Given the description of an element on the screen output the (x, y) to click on. 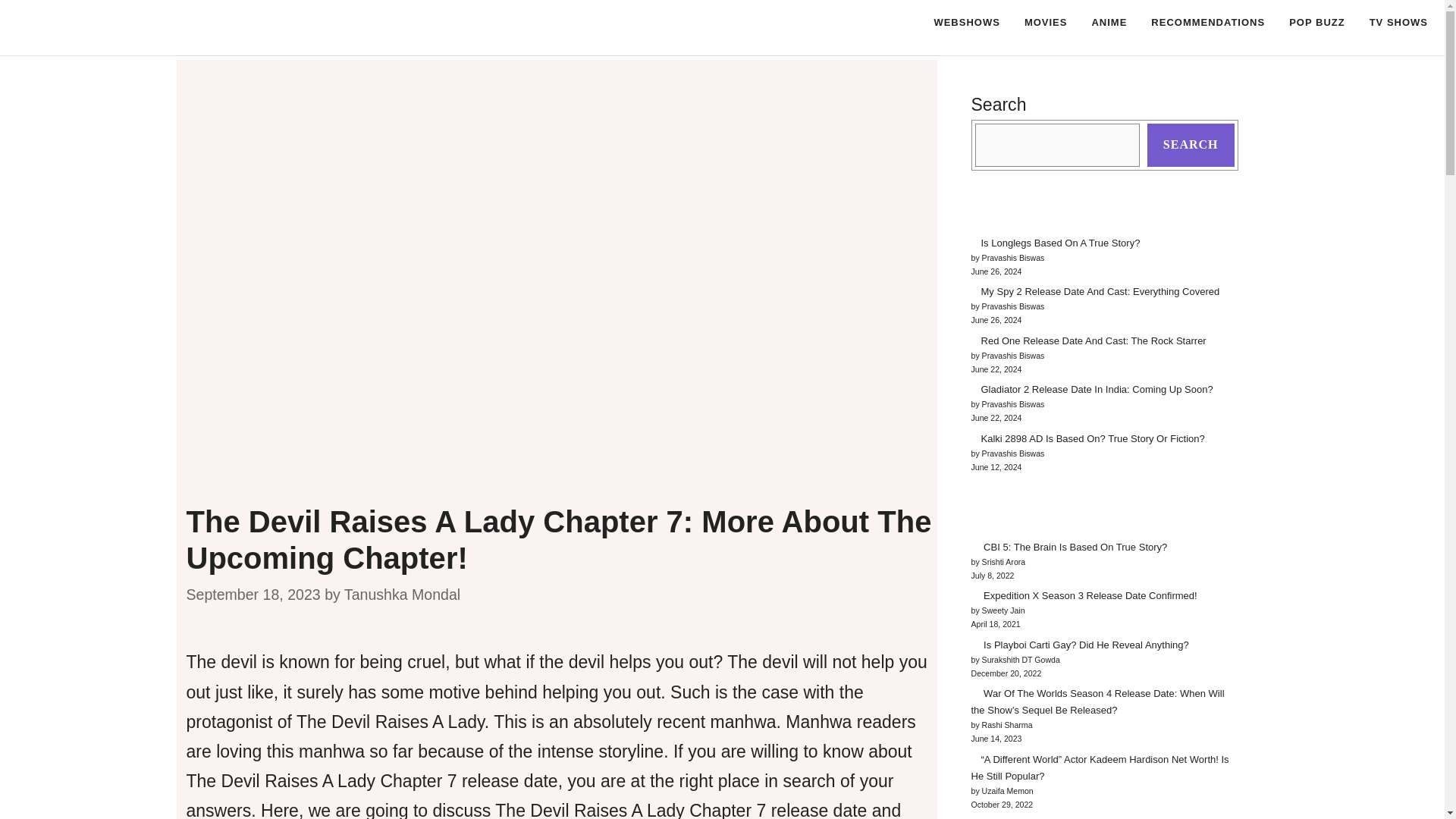
TV SHOWS (1397, 22)
SEARCH (1190, 145)
Tanushka Mondal (401, 594)
ANIME (1108, 22)
 CBI 5: The Brain Is Based On True Story? (1074, 546)
WEBSHOWS (966, 22)
MOVIES (1045, 22)
RECOMMENDATIONS (1207, 22)
 Is Playboi Carti Gay? Did He Reveal Anything? (1085, 644)
My Spy 2 Release Date And Cast: Everything Covered (1100, 291)
